Given the description of an element on the screen output the (x, y) to click on. 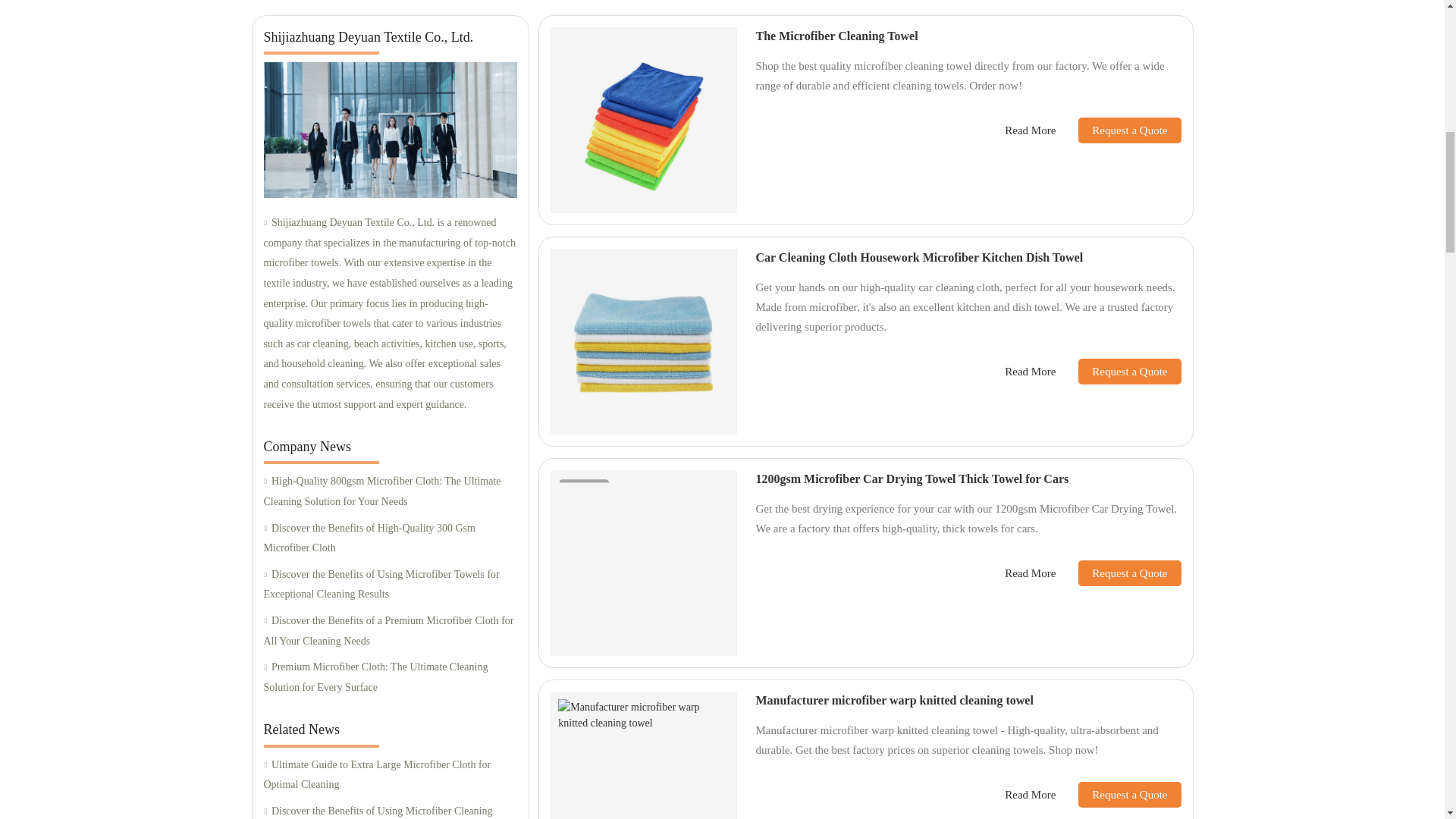
Car Cleaning Cloth Housework Microfiber Kitchen Dish Towel (919, 256)
Read More (1029, 130)
The Microfiber Cleaning Towel (836, 35)
Read More (1029, 371)
